Given the description of an element on the screen output the (x, y) to click on. 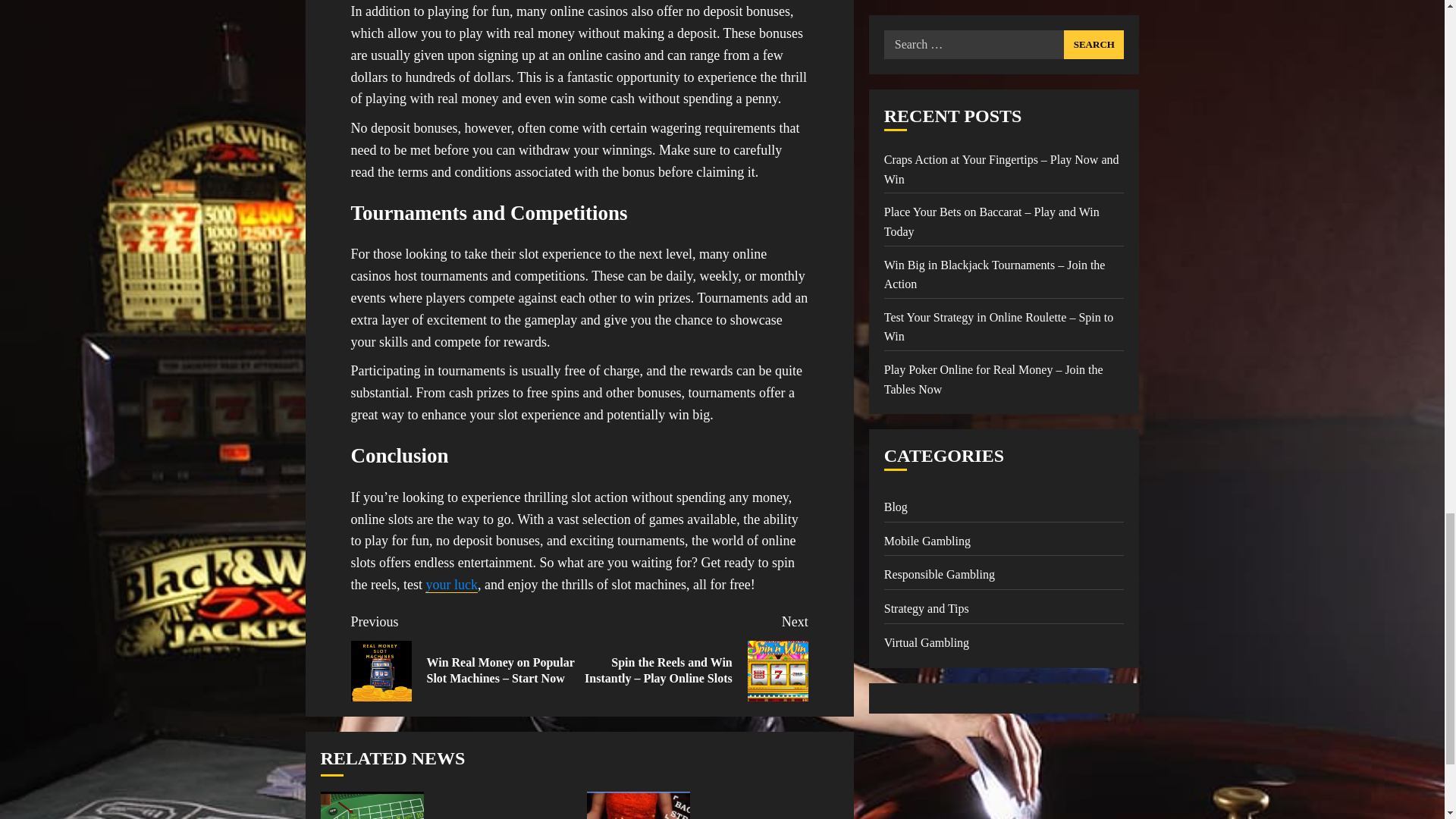
your luck (451, 584)
